Given the description of an element on the screen output the (x, y) to click on. 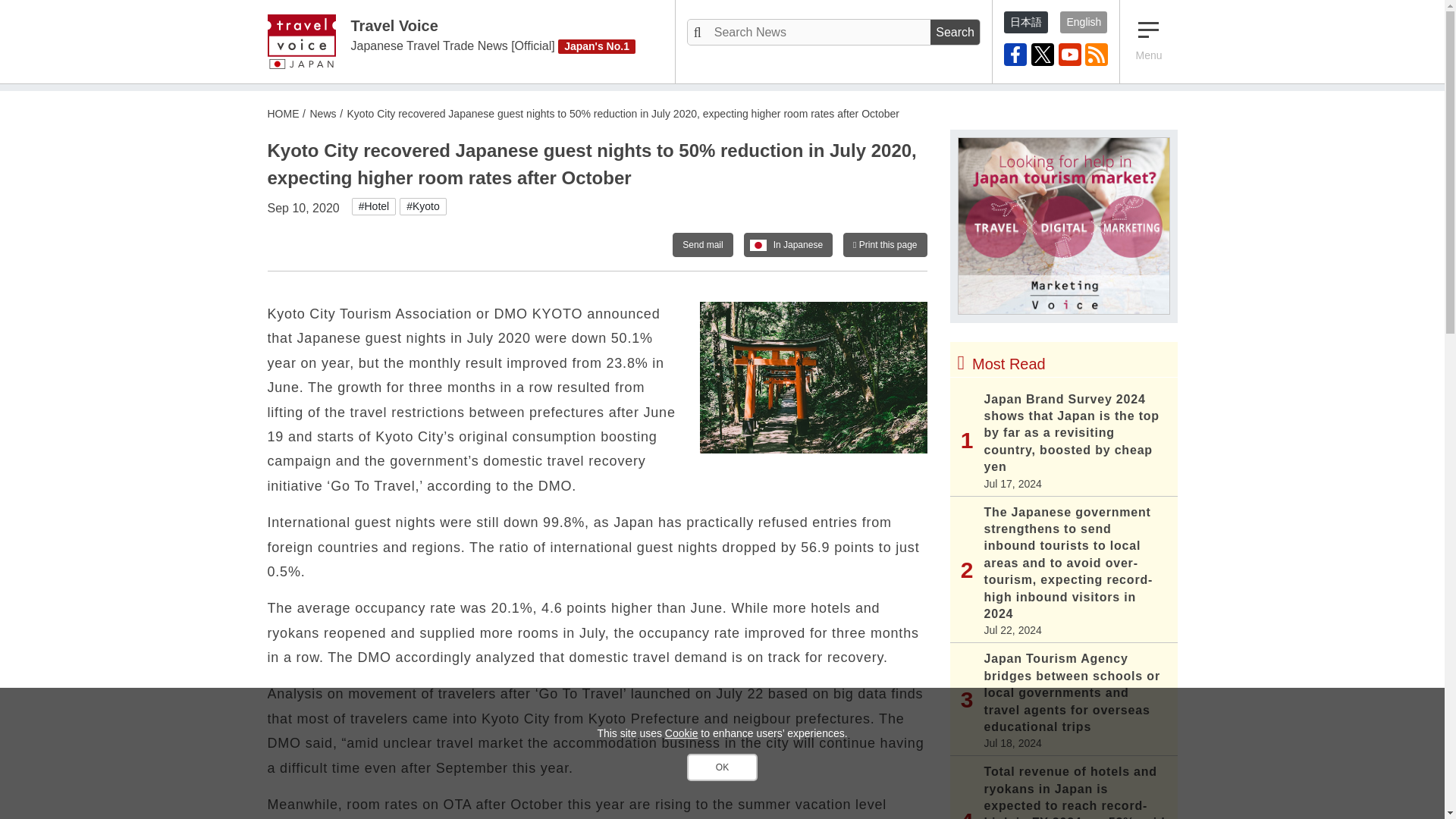
Send mail (702, 244)
HOME (282, 113)
News (322, 113)
Search (954, 32)
Print this page (884, 244)
In Japanese (788, 244)
English (1082, 22)
